Given the description of an element on the screen output the (x, y) to click on. 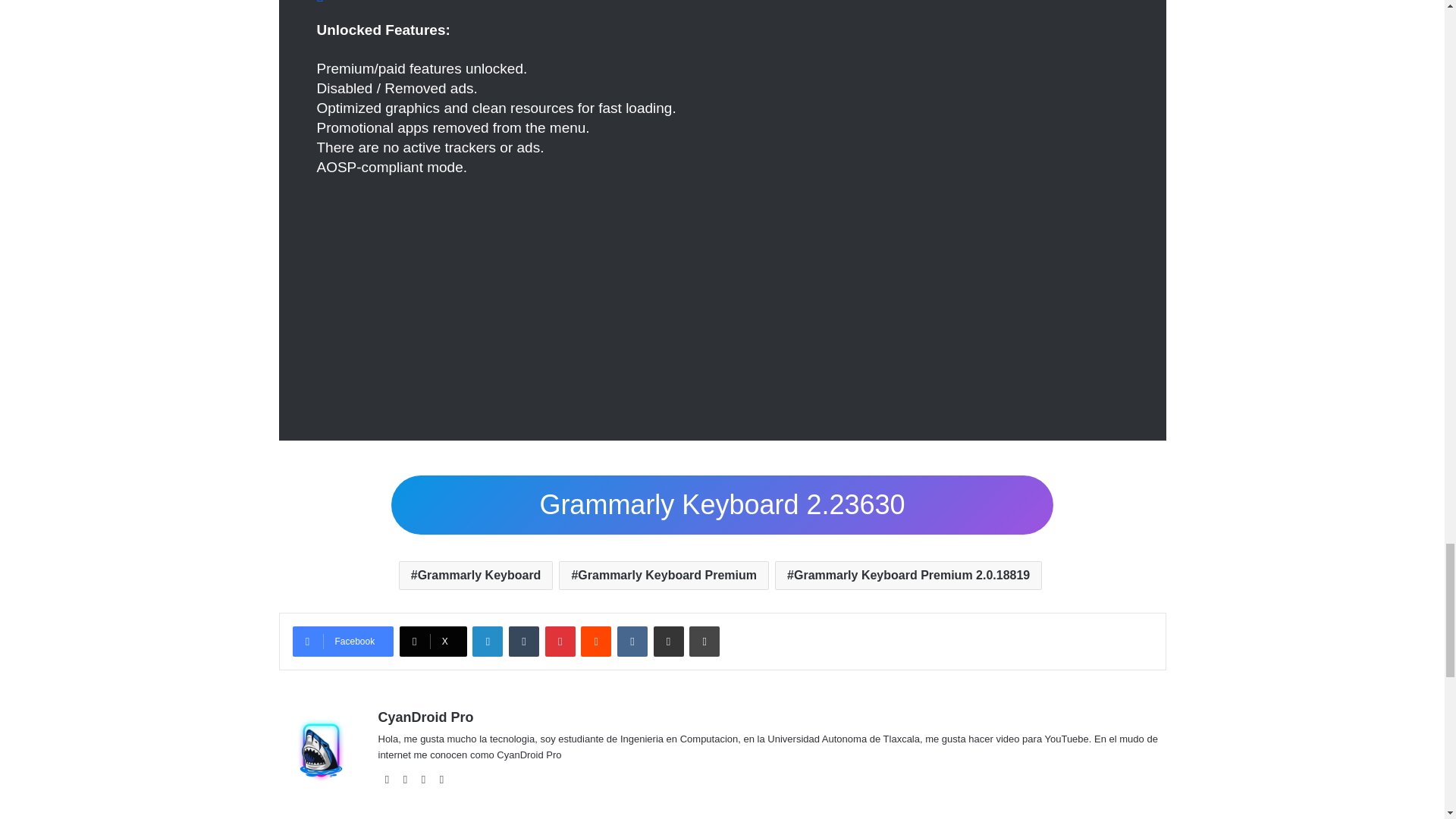
Facebook (343, 641)
Grammarly Keyboard Premium 2.0.18819 (908, 575)
Grammarly Keyboard 2.23630 (721, 504)
Pinterest (559, 641)
LinkedIn (486, 641)
X (432, 641)
LinkedIn (486, 641)
Reddit (595, 641)
Tumblr (523, 641)
Reddit (595, 641)
Grammarly Keyboard Premium (663, 575)
Facebook (343, 641)
Tumblr (523, 641)
Pinterest (559, 641)
VKontakte (632, 641)
